Given the description of an element on the screen output the (x, y) to click on. 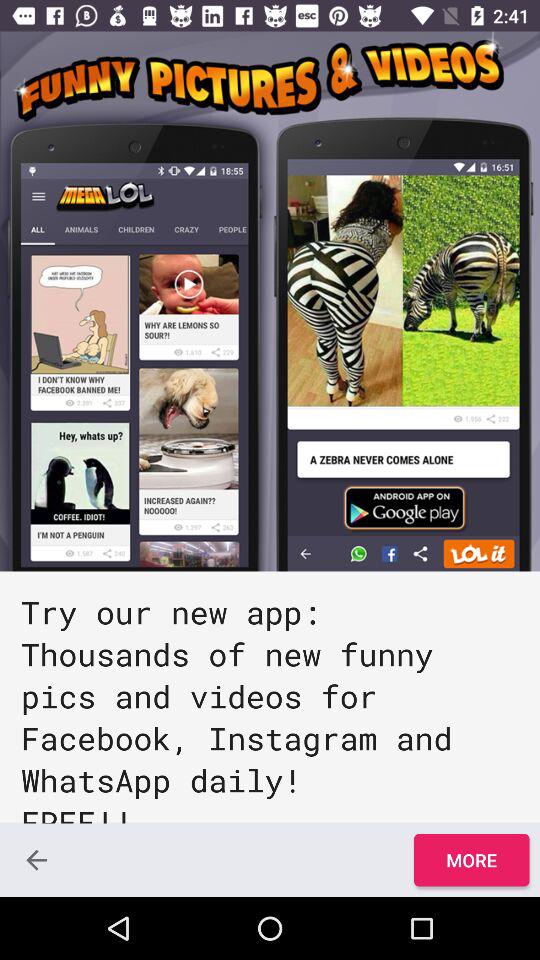
turn on the item at the bottom right corner (471, 859)
